Given the description of an element on the screen output the (x, y) to click on. 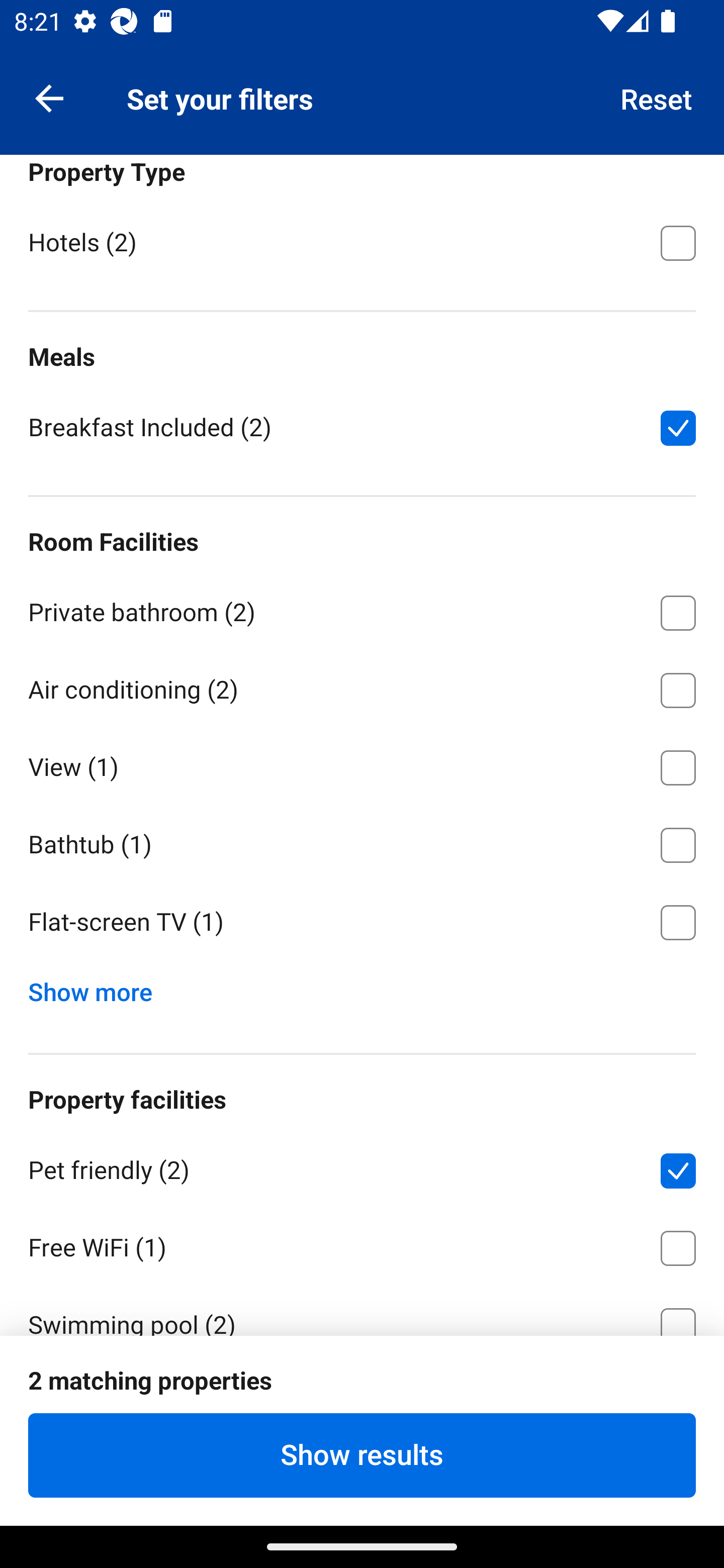
Navigate up (49, 97)
Reset (656, 97)
Hotels ⁦(2) (361, 241)
Breakfast Included ⁦(2) (361, 426)
Private bathroom ⁦(2) (361, 608)
Air conditioning ⁦(2) (361, 686)
View ⁦(1) (361, 763)
Bathtub ⁦(1) (361, 841)
Flat-screen TV ⁦(1) (361, 922)
Show more (97, 987)
Pet friendly ⁦(2) (361, 1166)
Free WiFi ⁦(1) (361, 1244)
Swimming pool ⁦(2) (361, 1309)
Parking ⁦(2) (361, 1399)
Show results (361, 1454)
